Given the description of an element on the screen output the (x, y) to click on. 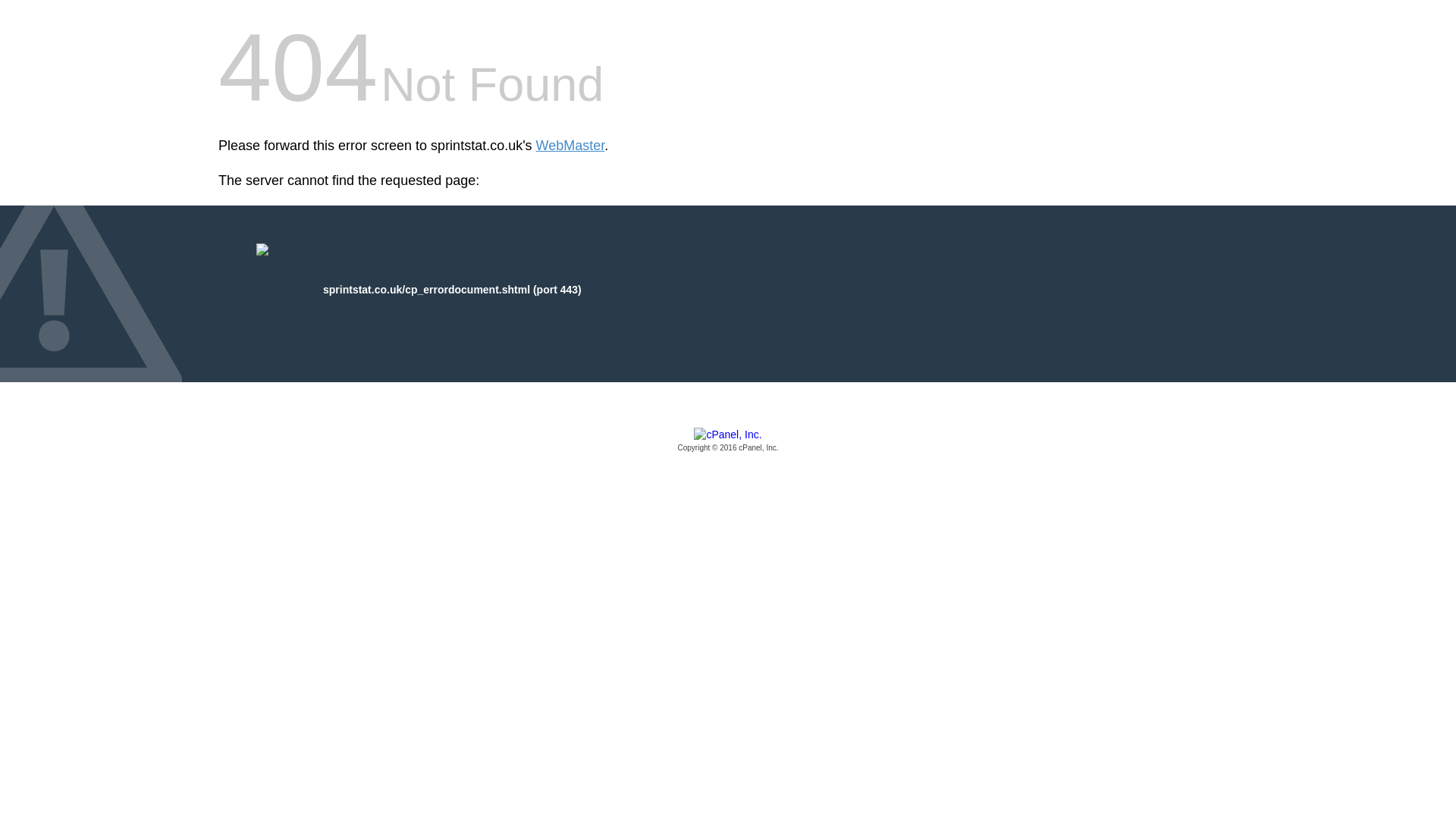
WebMaster (570, 145)
cPanel, Inc. (727, 440)
